Given the description of an element on the screen output the (x, y) to click on. 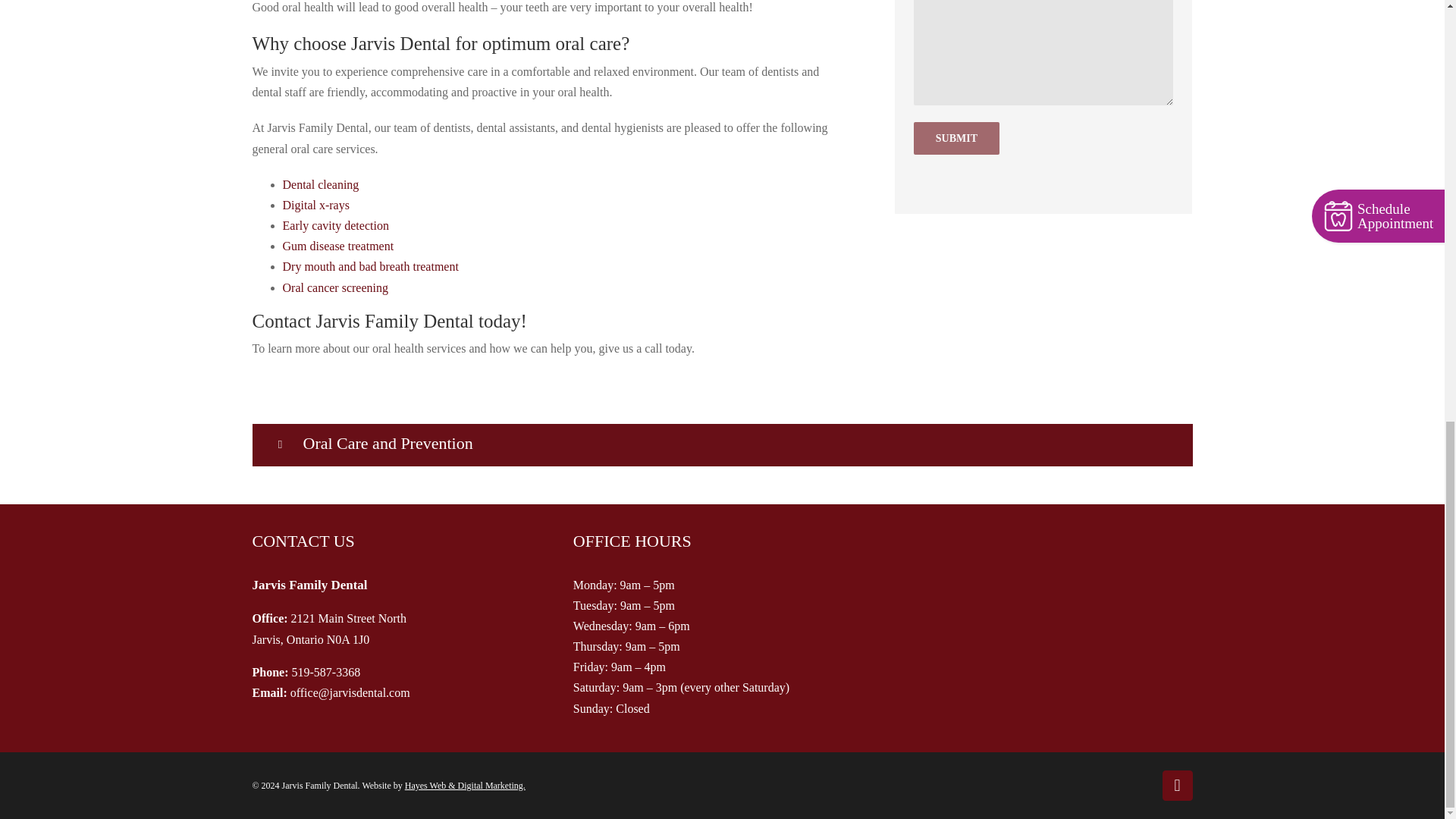
Submit (956, 138)
Facebook (1176, 785)
